Given the description of an element on the screen output the (x, y) to click on. 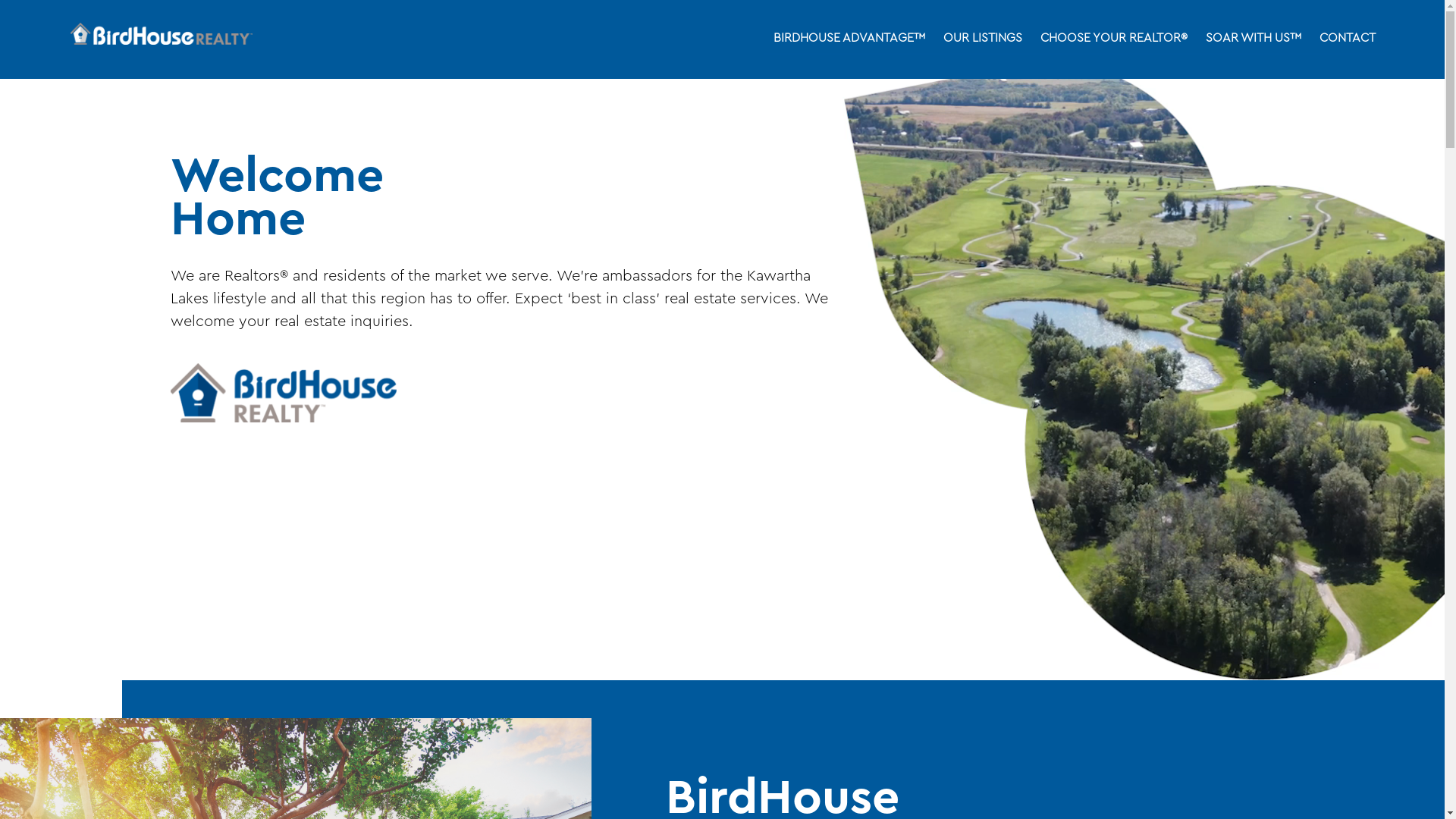
OUR LISTINGS Element type: text (982, 38)
CONTACT Element type: text (1347, 38)
